Given the description of an element on the screen output the (x, y) to click on. 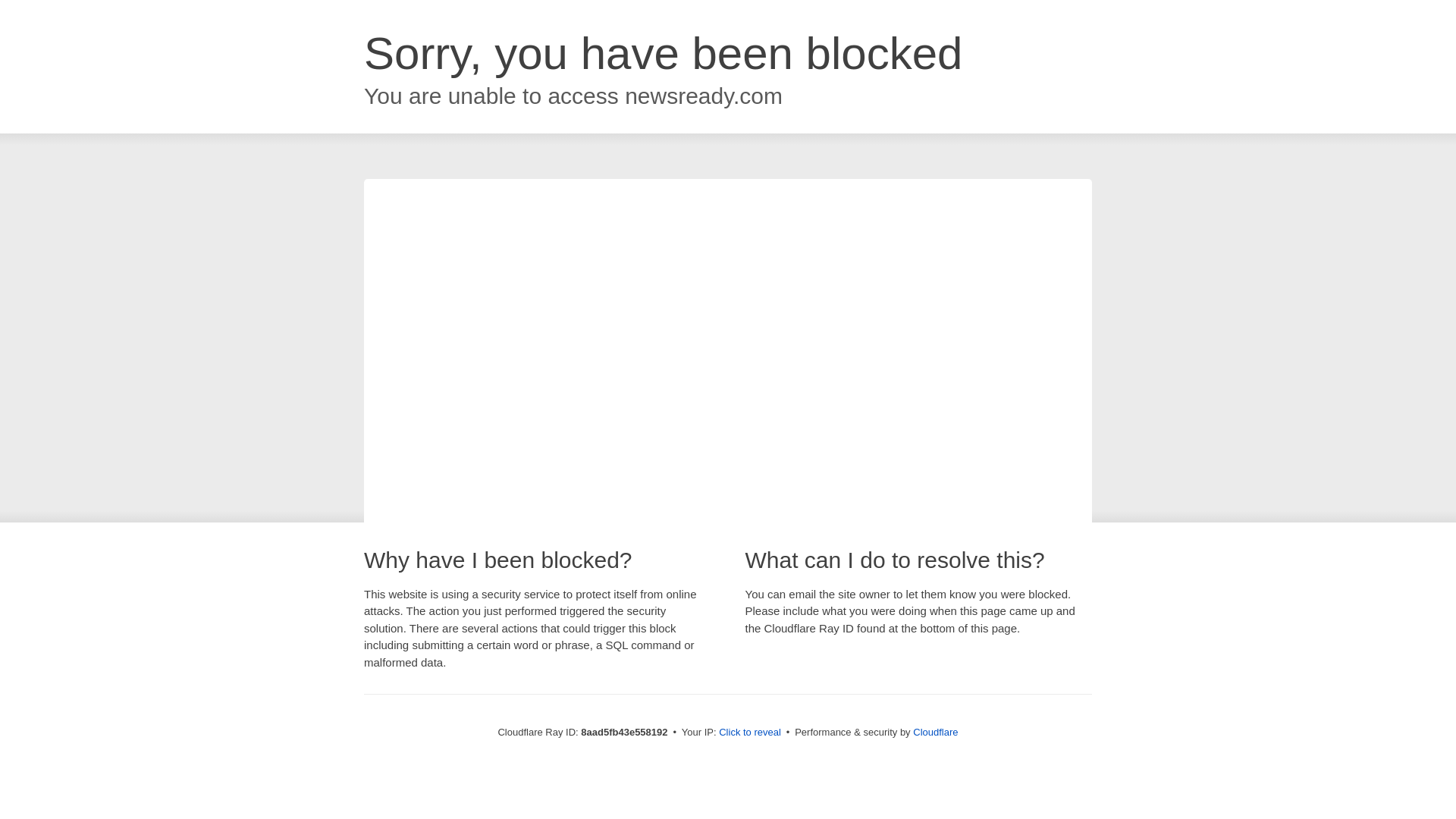
Click to reveal (749, 732)
Cloudflare (935, 731)
